Given the description of an element on the screen output the (x, y) to click on. 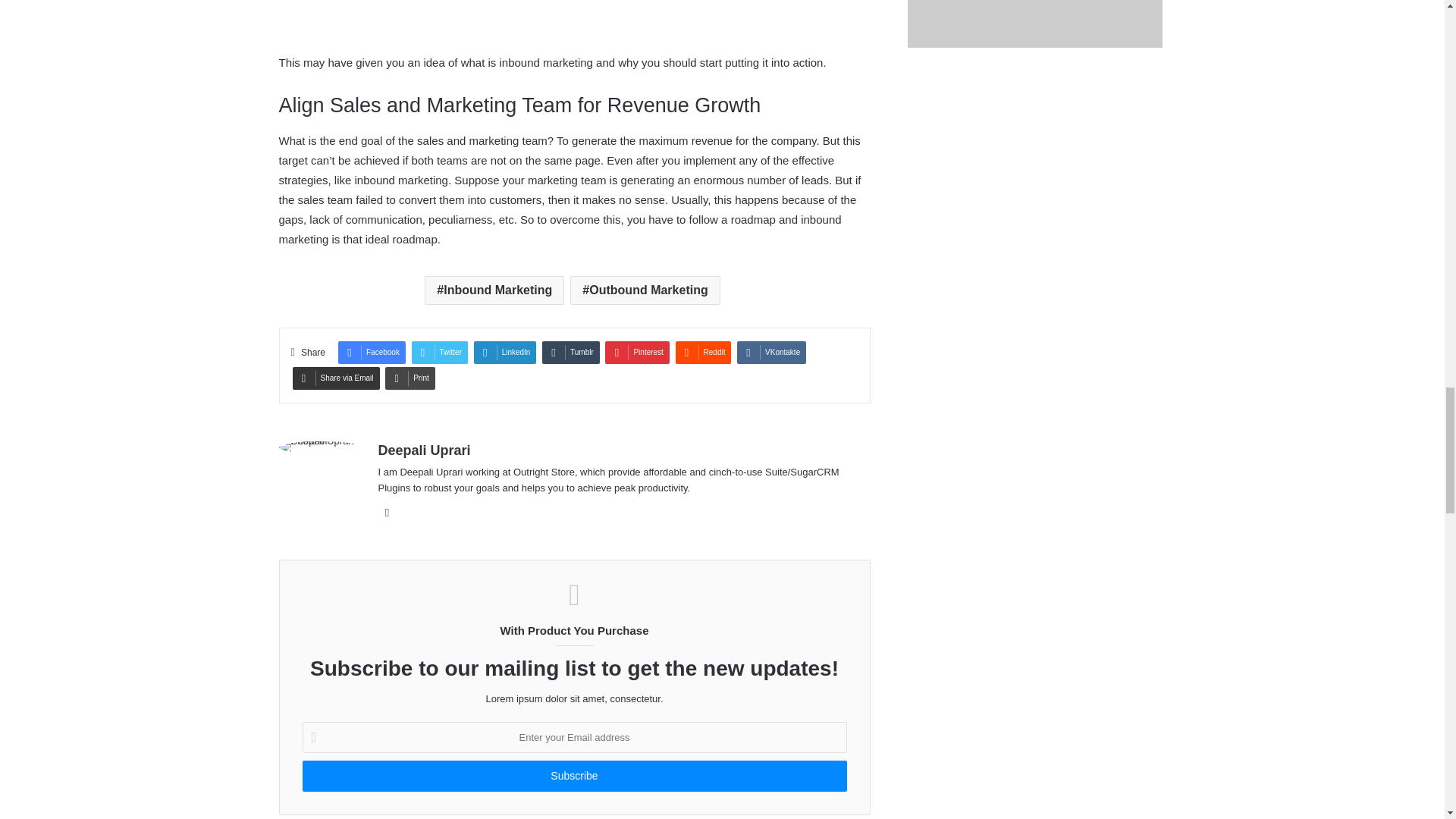
Outbound Marketing (644, 290)
Subscribe (573, 775)
Inbound Marketing (494, 290)
